Given the description of an element on the screen output the (x, y) to click on. 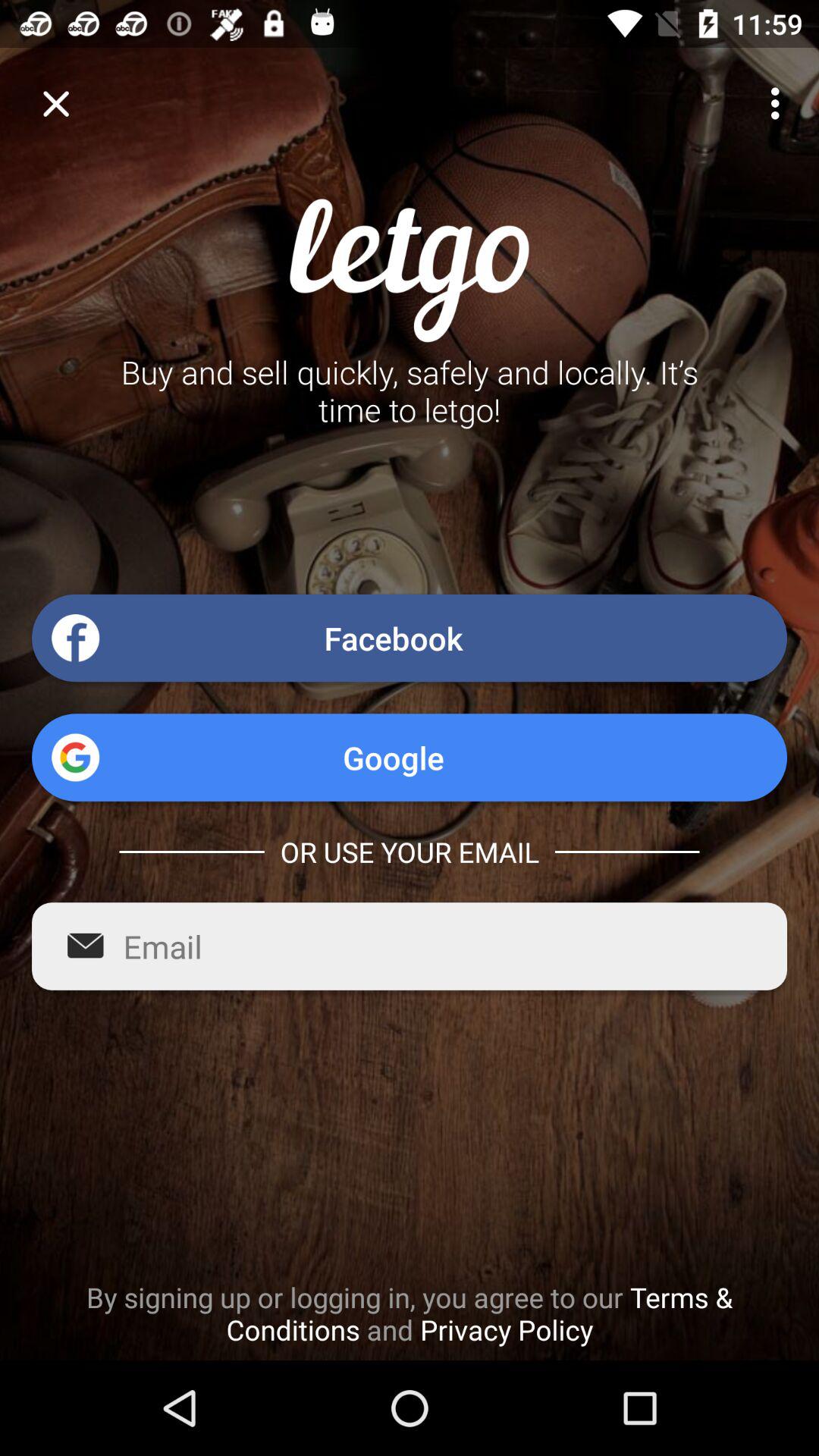
click item below buy and sell (409, 637)
